Given the description of an element on the screen output the (x, y) to click on. 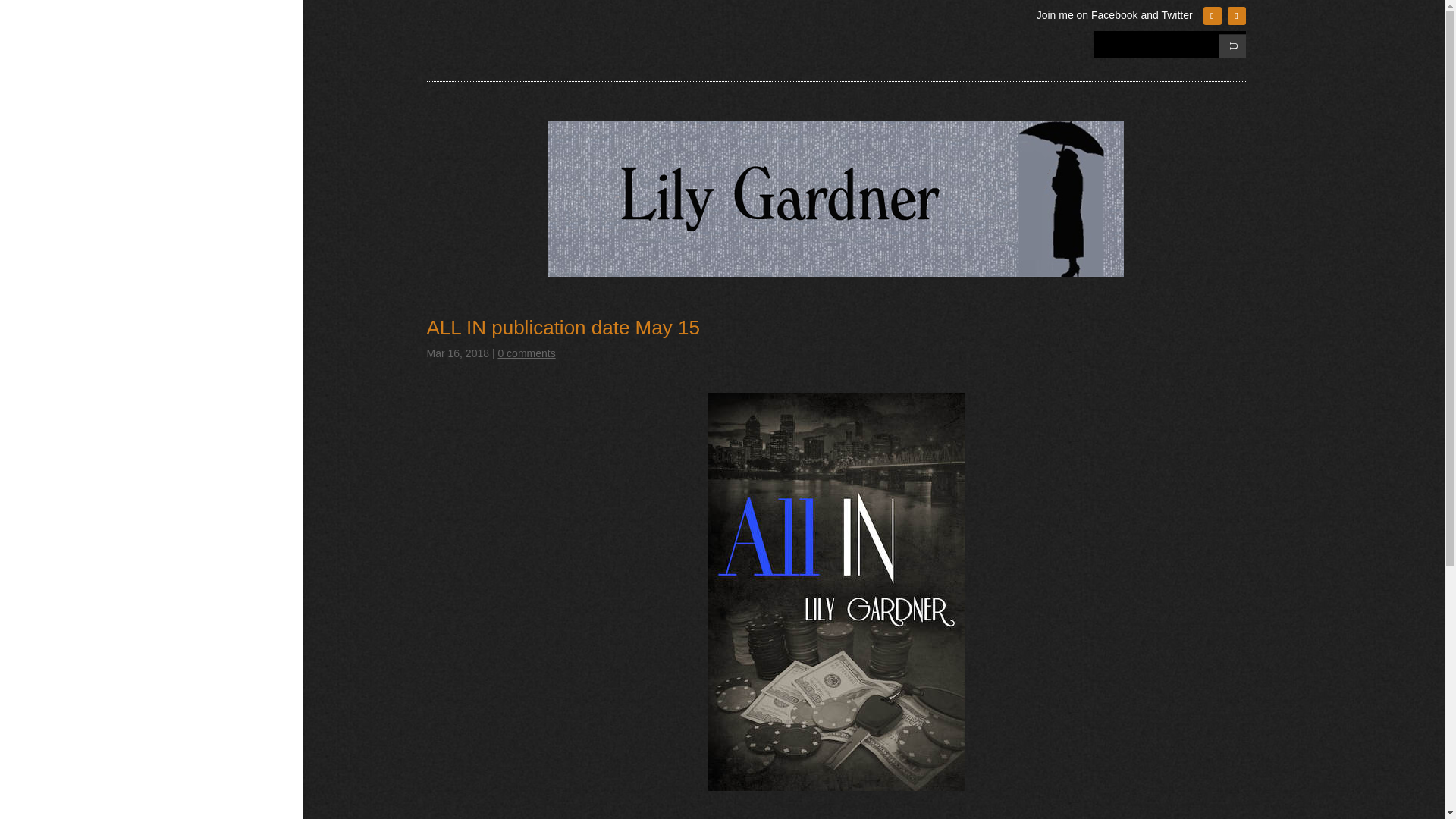
All In (181, 263)
Shot on Location (181, 389)
Follow on X (1235, 15)
A Bitch Called Hope (181, 178)
Search (1225, 44)
Search (1225, 44)
Home (181, 94)
Films Noir (181, 431)
Book Reviews (181, 515)
9929745 (836, 198)
Bio (181, 558)
Sites (181, 347)
Coming Soon (181, 305)
Follow on Facebook (1211, 15)
Film Ivoire (181, 474)
